Given the description of an element on the screen output the (x, y) to click on. 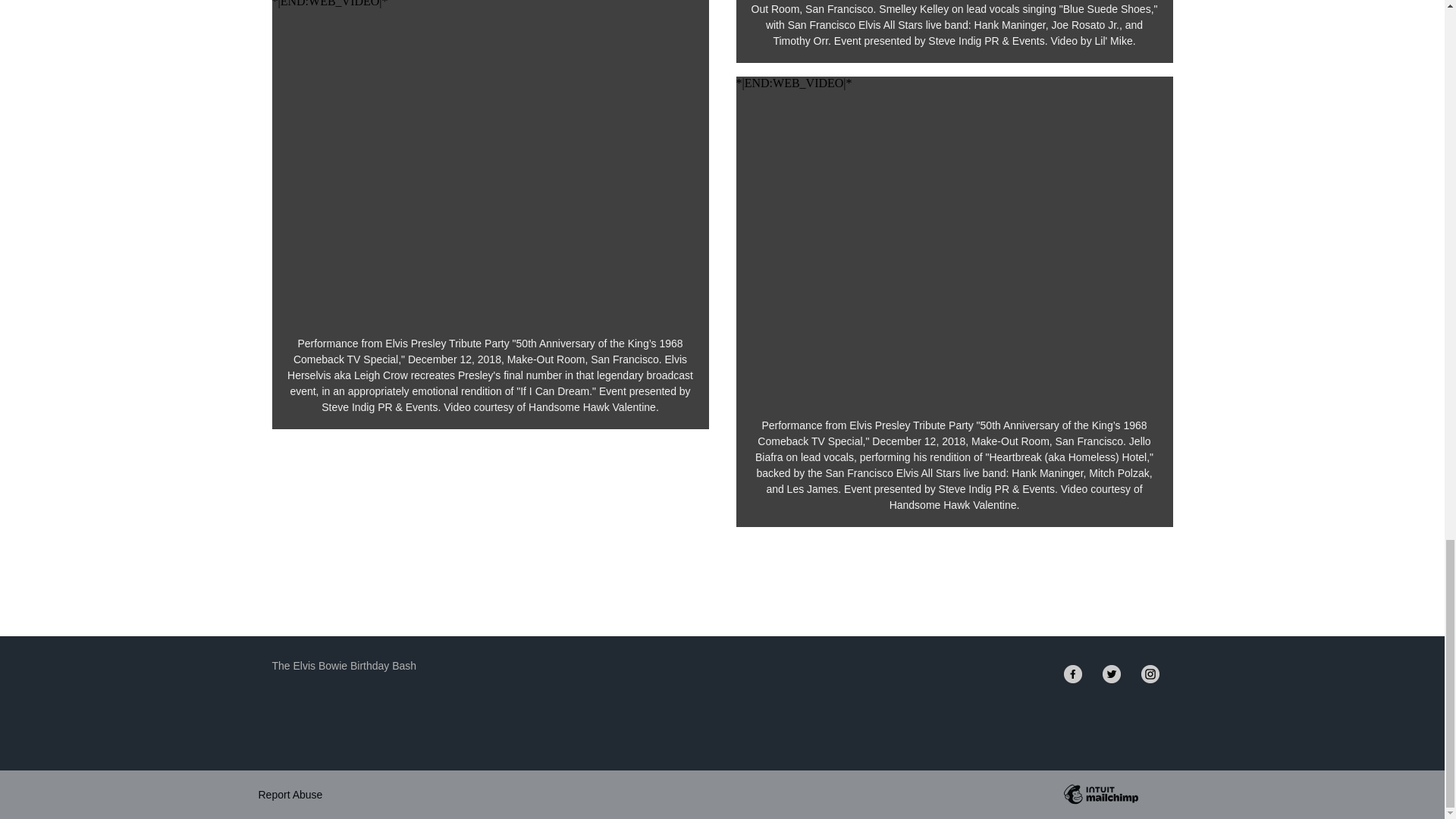
Report Abuse (289, 793)
